Given the description of an element on the screen output the (x, y) to click on. 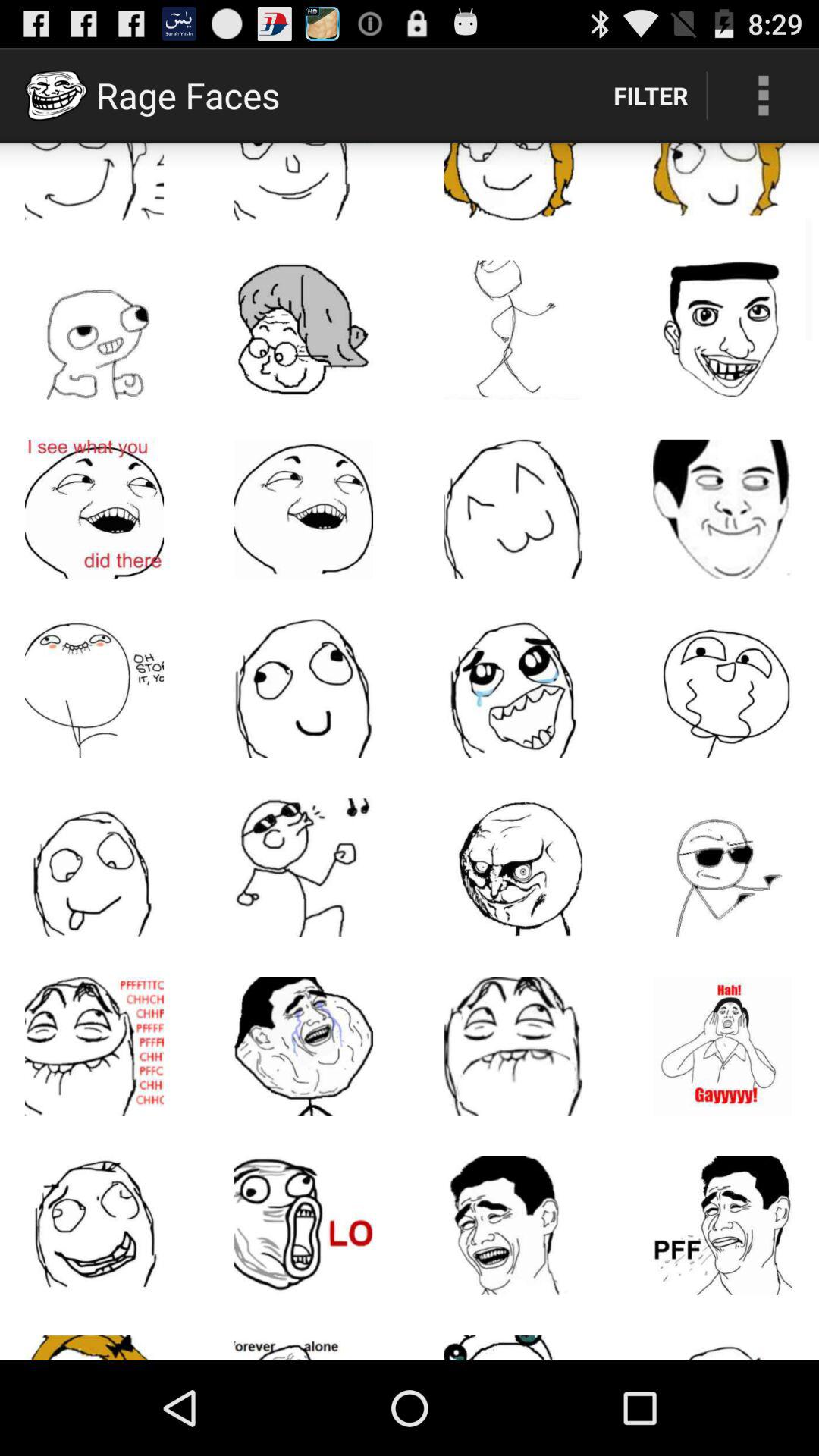
scroll until filter (650, 95)
